Given the description of an element on the screen output the (x, y) to click on. 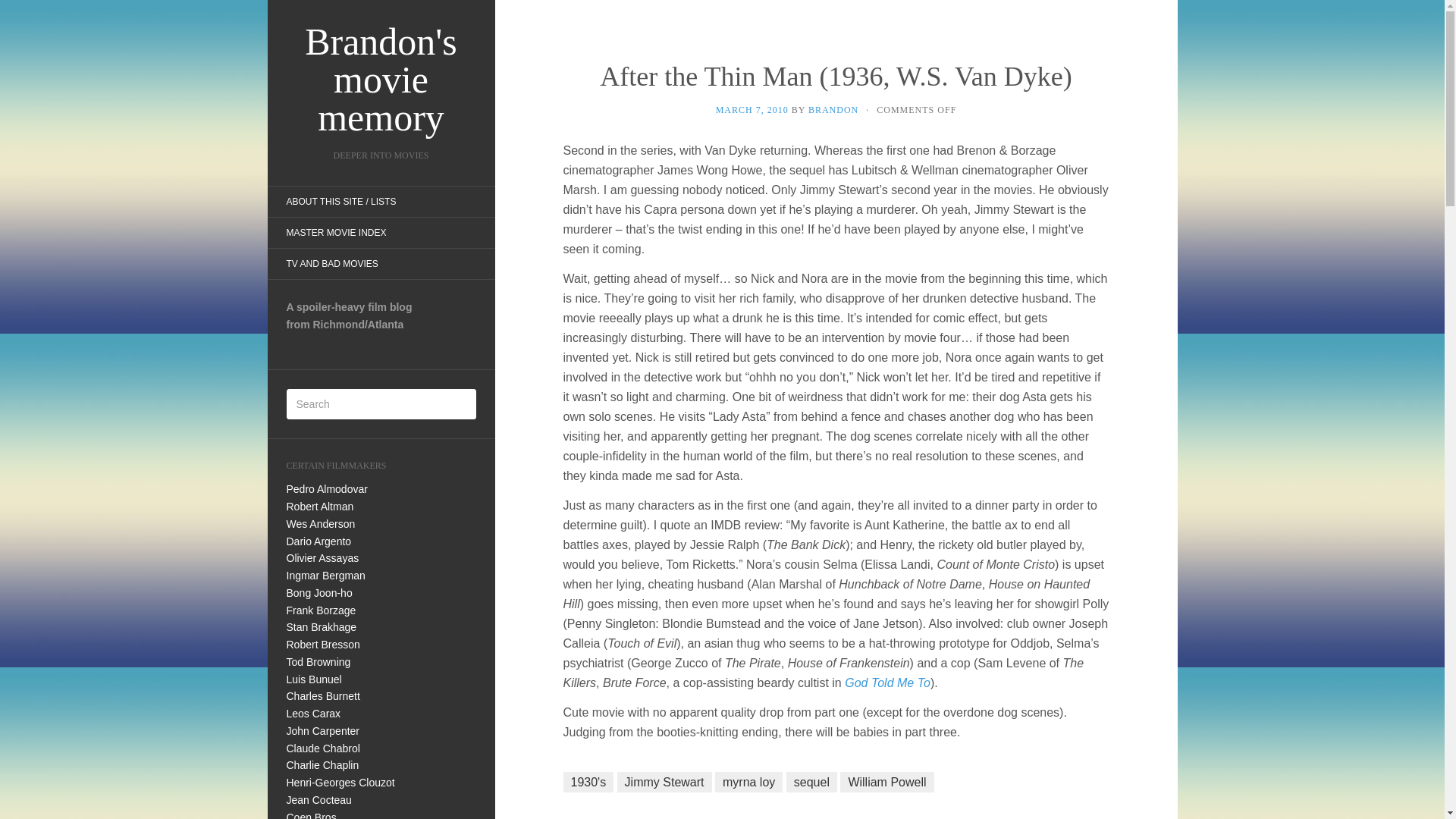
Stan Brakhage (321, 626)
Charlie Chaplin (322, 765)
Robert Bresson (322, 644)
Charles Burnett (322, 695)
Luis Bunuel (314, 679)
Ingmar Bergman (325, 575)
Claude Chabrol (322, 747)
Tod Browning (318, 662)
Bong Joon-ho (319, 592)
MASTER MOVIE INDEX (335, 232)
